Given the description of an element on the screen output the (x, y) to click on. 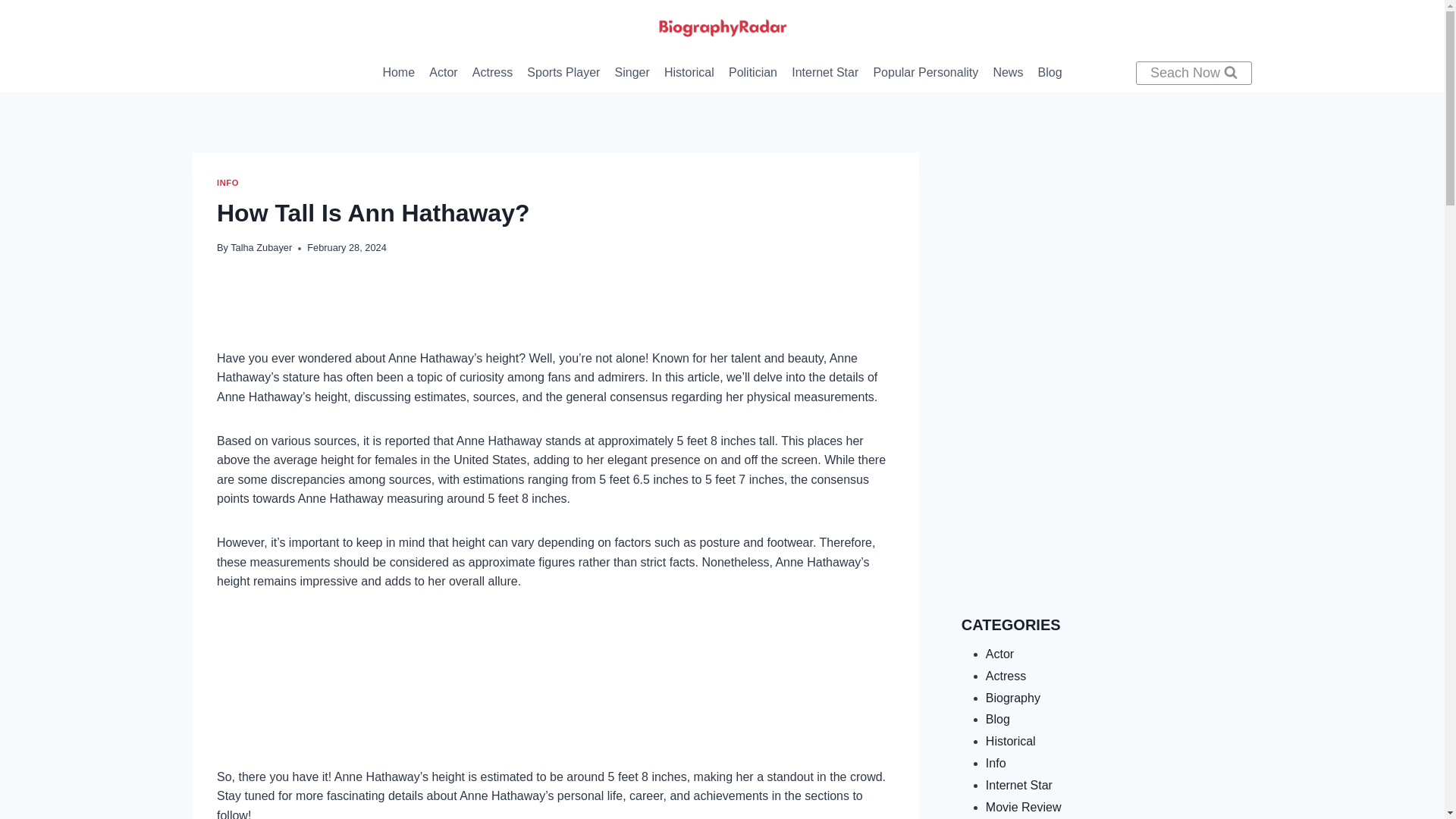
Talha Zubayer (261, 247)
Advertisement (555, 691)
Blog (1049, 72)
Politician (752, 72)
Internet Star (825, 72)
Advertisement (1106, 258)
News (1007, 72)
Historical (688, 72)
INFO (227, 182)
Popular Personality (925, 72)
Advertisement (1106, 489)
Singer (631, 72)
Seach Now (1193, 73)
Actress (491, 72)
Actor (443, 72)
